Given the description of an element on the screen output the (x, y) to click on. 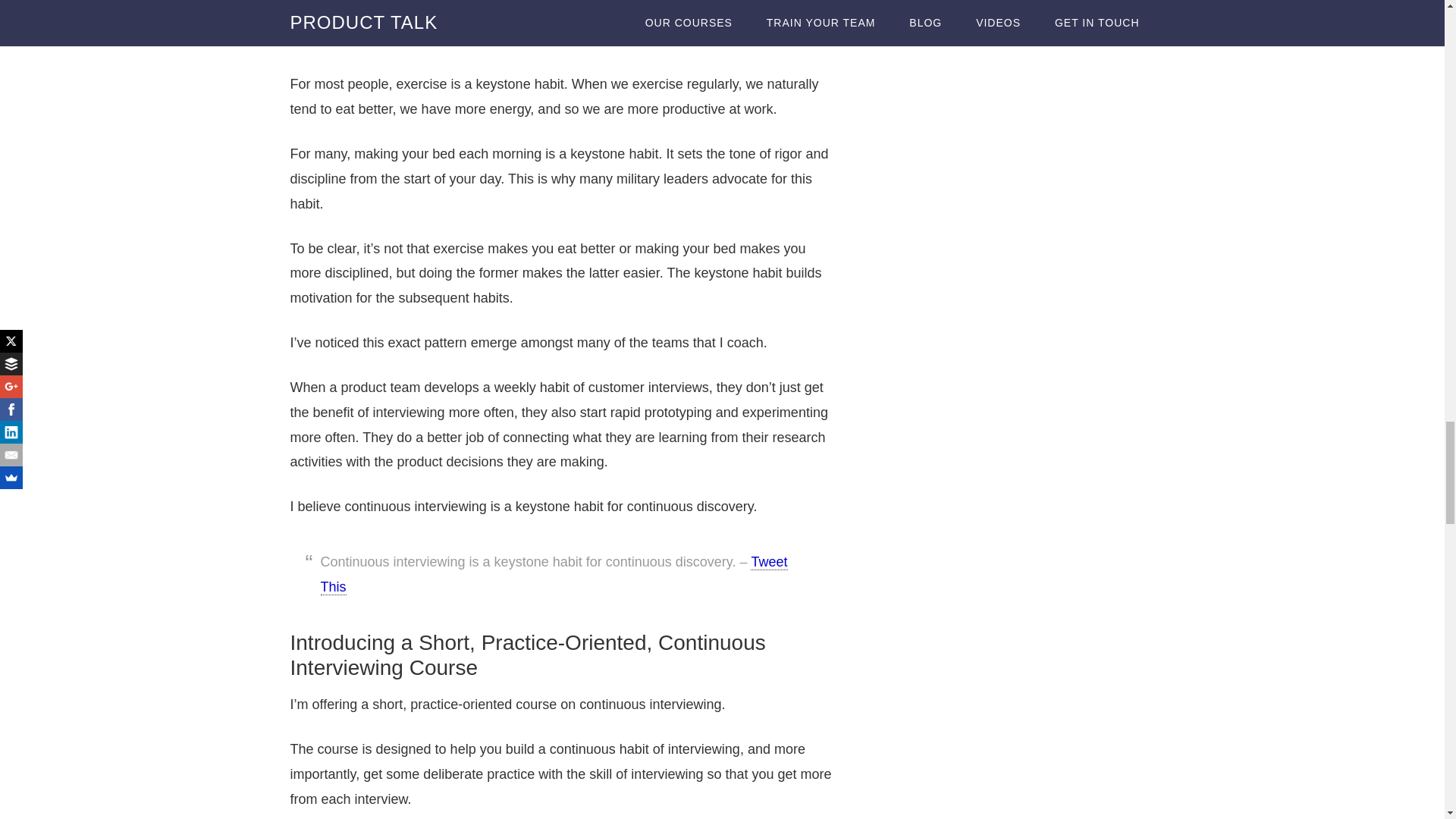
Tweet This (553, 574)
Tweet This (766, 29)
